Given the description of an element on the screen output the (x, y) to click on. 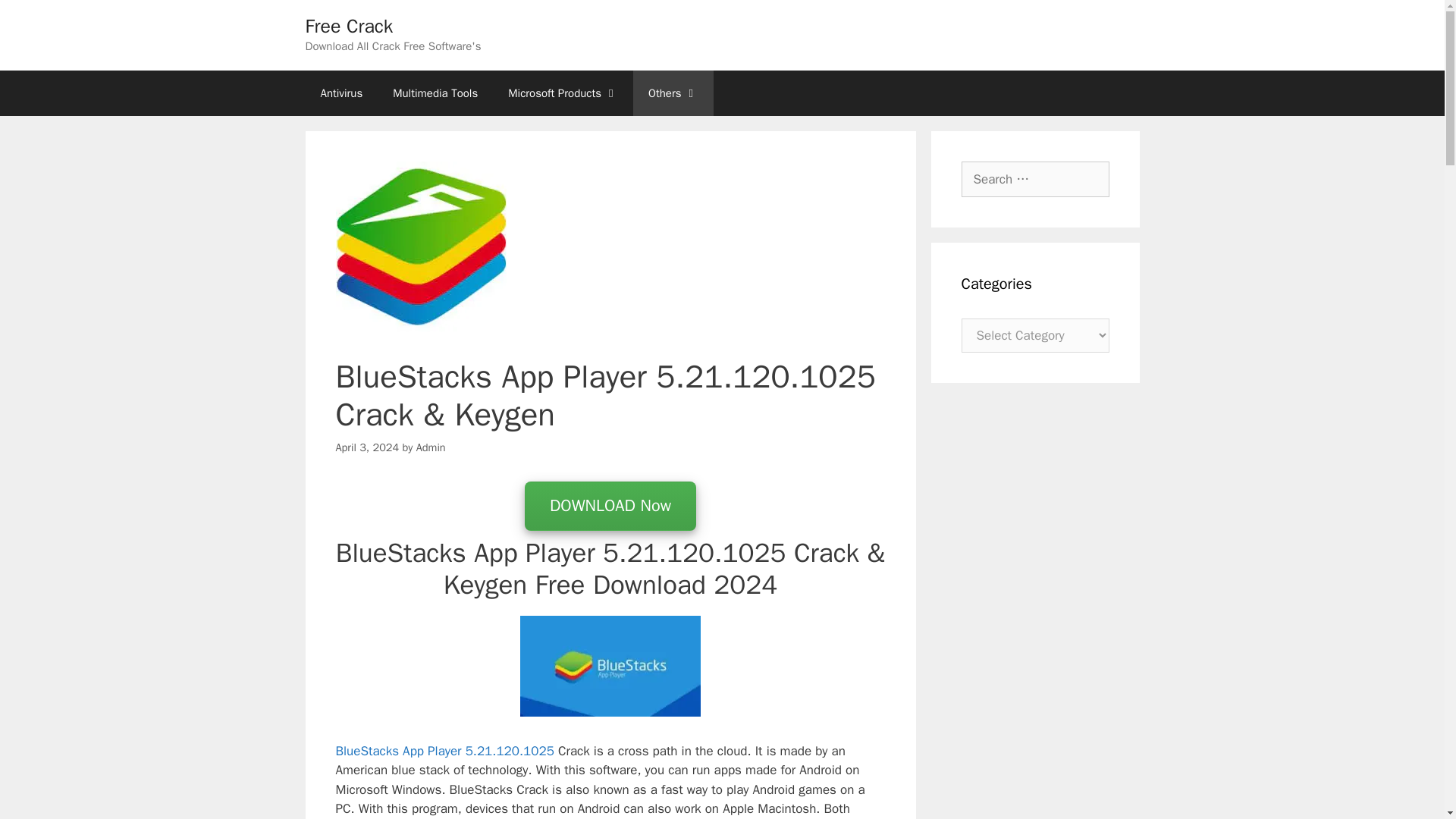
Admin (430, 446)
Search for: (1034, 178)
DOWNLOAD Now (609, 506)
Multimedia Tools (435, 92)
Microsoft Products (563, 92)
View all posts by Admin (430, 446)
BlueStacks App Player 5.21.120.1025 (445, 750)
Antivirus (340, 92)
DOWNLOAD Now (609, 505)
Free Crack (348, 25)
Others (673, 92)
